Given the description of an element on the screen output the (x, y) to click on. 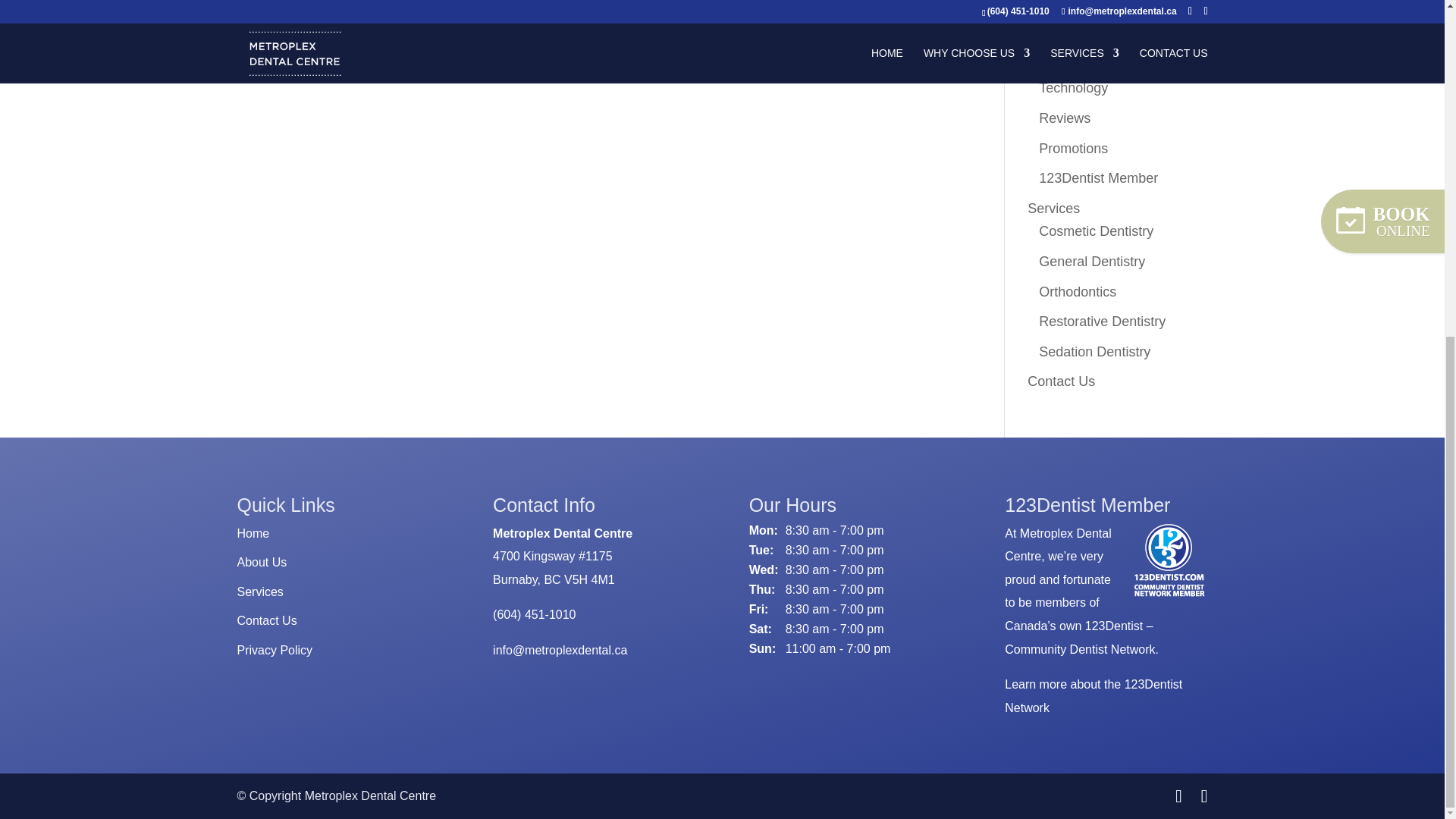
Metroplex Dental at Metrotown Mall (704, 3)
Cosmetic Dentistry (1096, 231)
Services (1053, 208)
Student Dental Plans (1103, 28)
Blog (1052, 58)
Promotions (1073, 148)
Reviews (1064, 118)
Patient Financing (1091, 2)
123Dentist Member (1098, 177)
Technology (1073, 87)
